Given the description of an element on the screen output the (x, y) to click on. 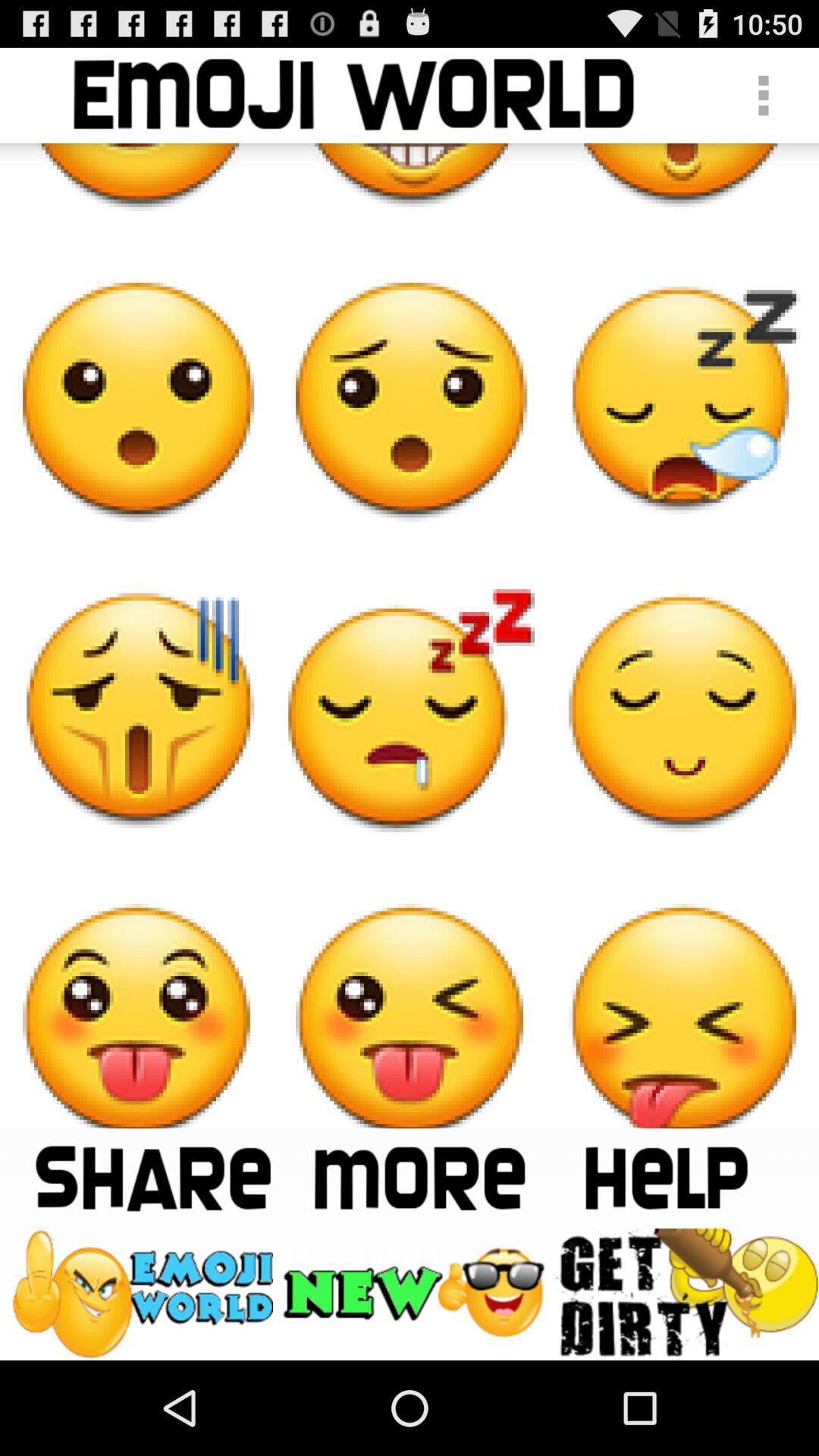
see more (419, 1177)
